Given the description of an element on the screen output the (x, y) to click on. 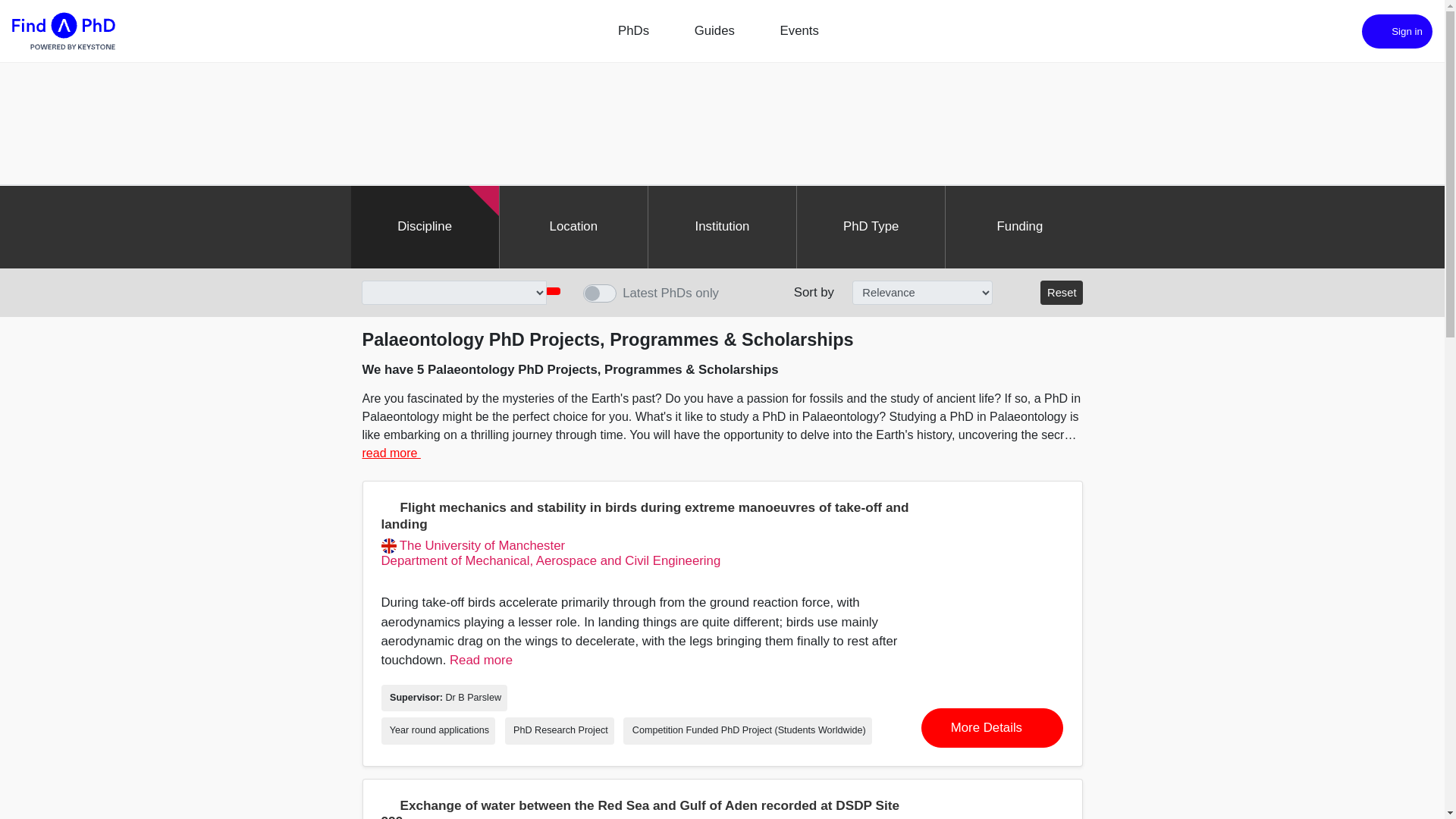
United Kingdom (388, 545)
FindAPhD.com (63, 31)
Clear all search filters (1062, 292)
PhD Opportunities at The University of Manchester (472, 546)
